Given the description of an element on the screen output the (x, y) to click on. 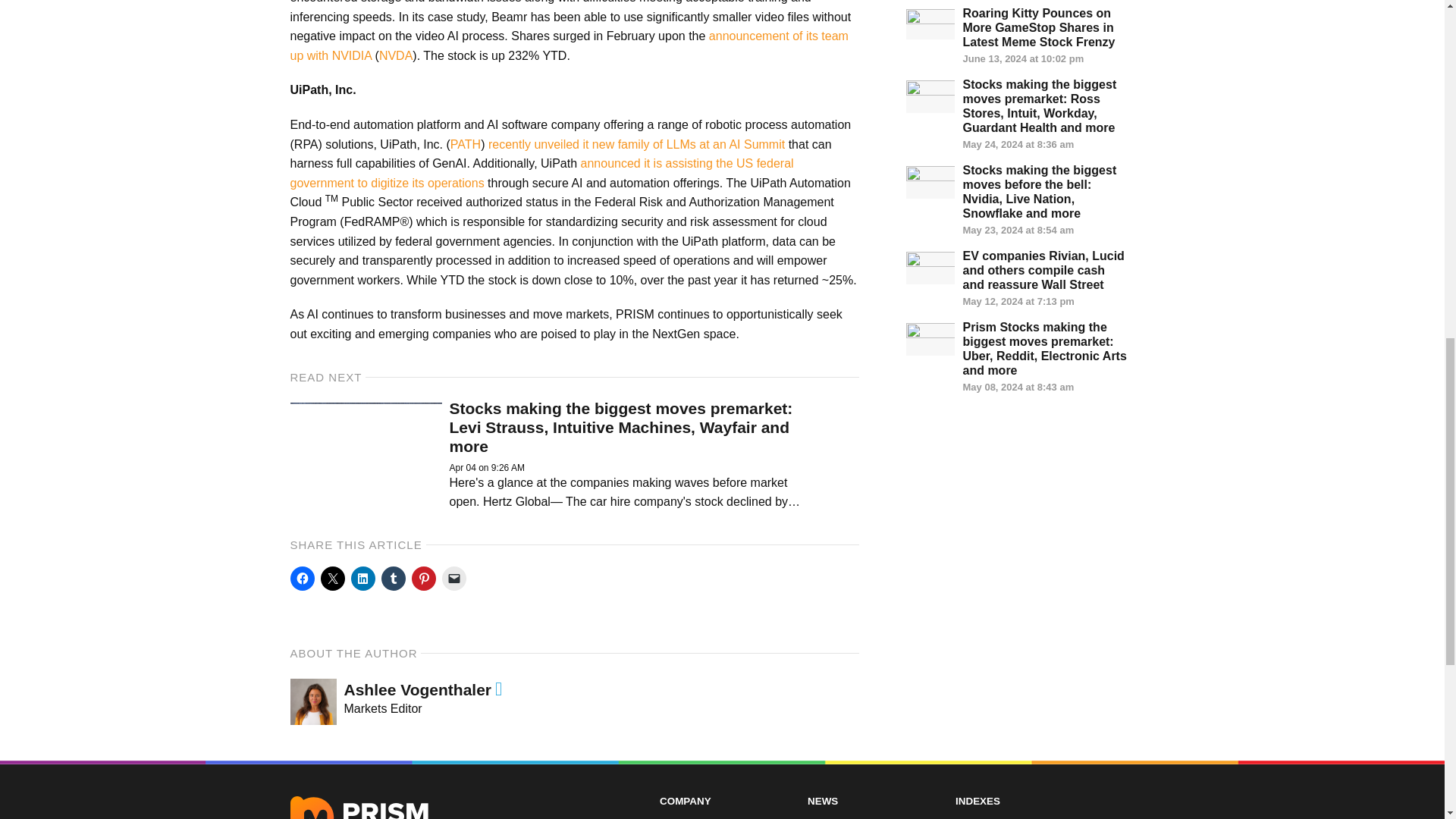
Click to share on Pinterest (422, 578)
Click to email a link to a friend (453, 578)
Click to share on Tumblr (392, 578)
Click to share on LinkedIn (362, 578)
Click to share on X (331, 578)
Click to share on Facebook (301, 578)
